Given the description of an element on the screen output the (x, y) to click on. 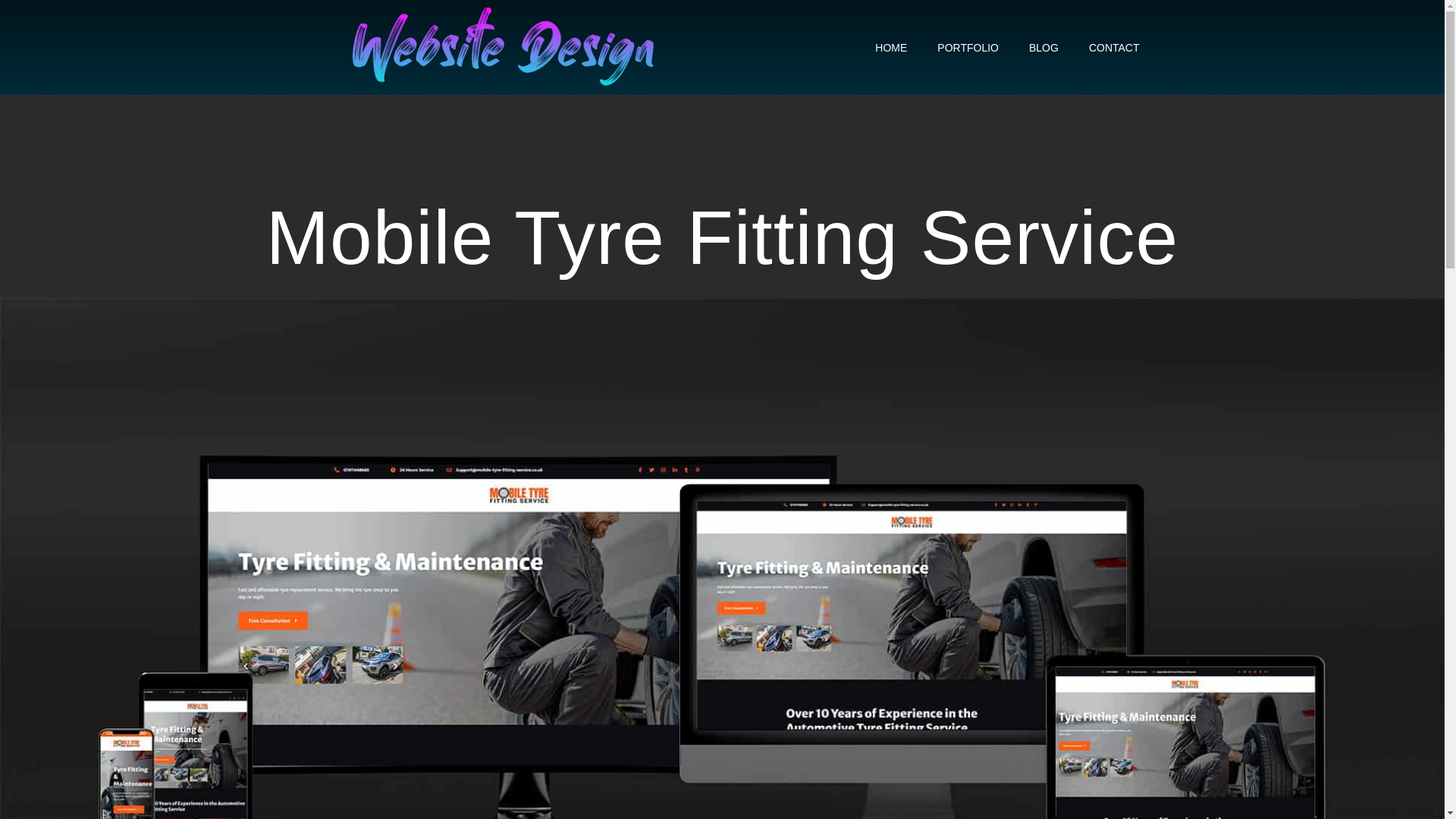
HOME (890, 46)
CONTACT (1114, 46)
BLOG (1043, 46)
PORTFOLIO (967, 46)
Website-Design (504, 46)
